Given the description of an element on the screen output the (x, y) to click on. 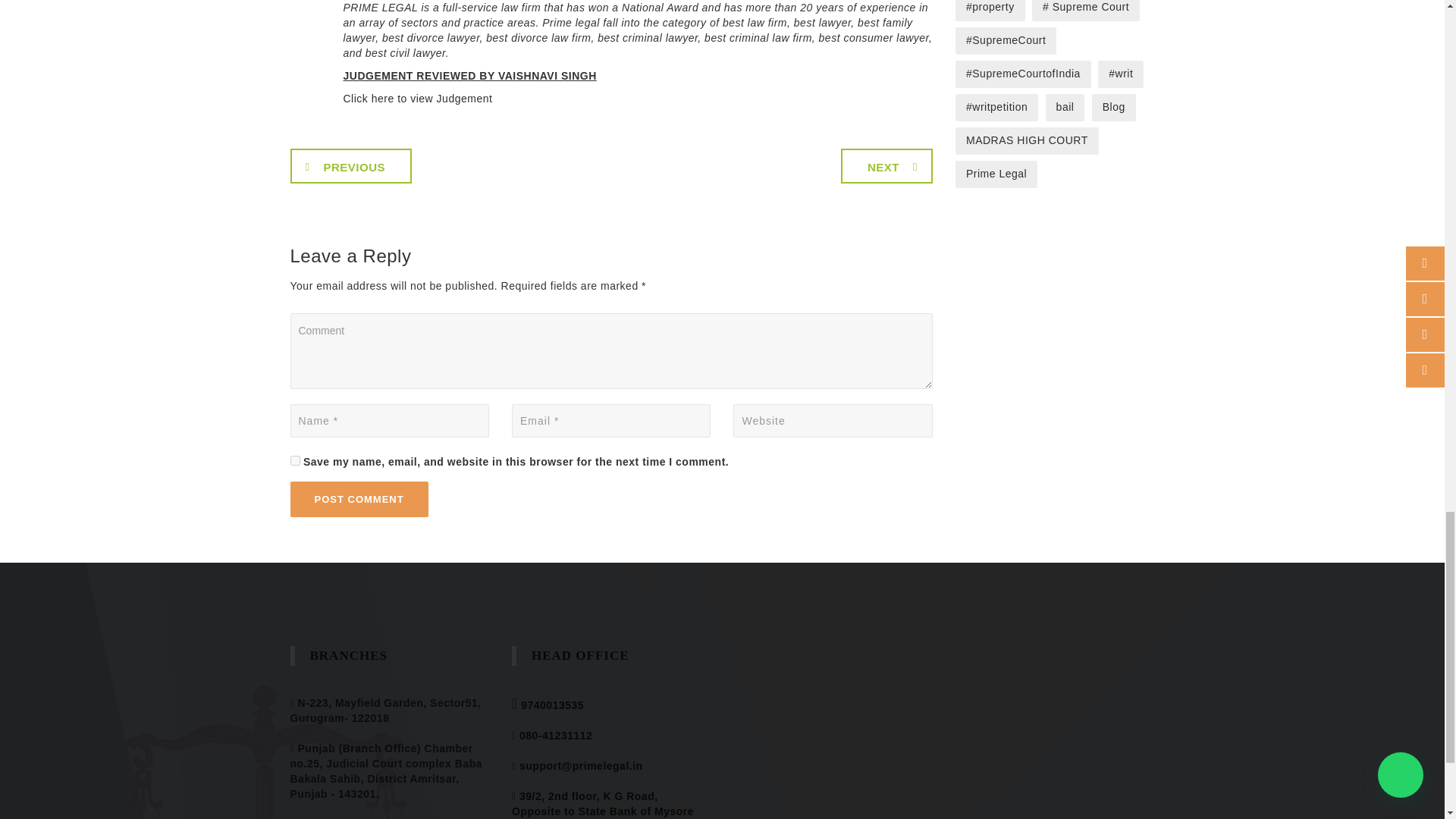
Post Comment (358, 498)
NEXT (887, 165)
Click here to view Judgement (417, 98)
PREVIOUS (350, 165)
yes (294, 460)
Post Comment (358, 498)
